Given the description of an element on the screen output the (x, y) to click on. 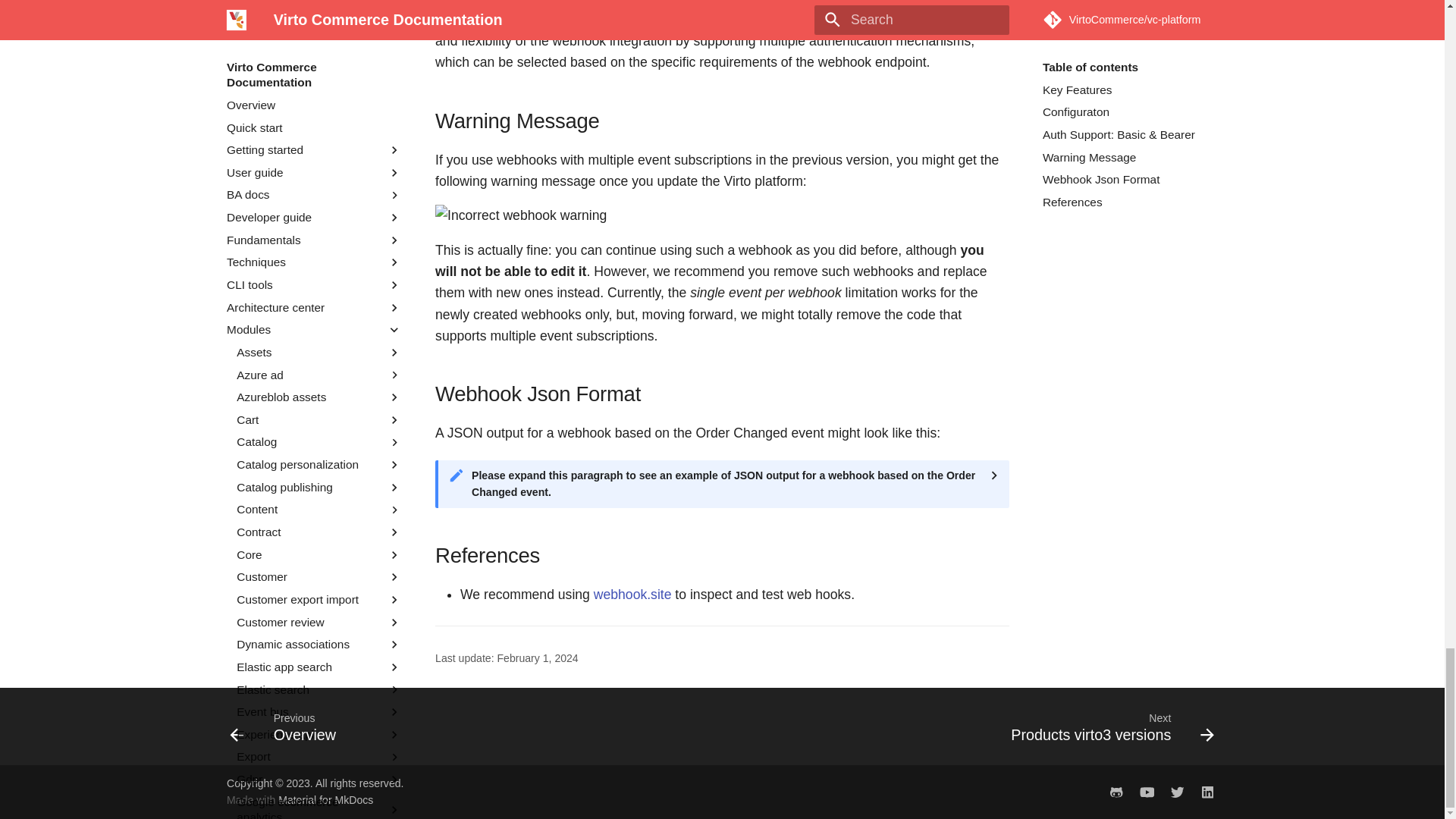
twitter.com (1177, 791)
www.linkedin.com (1207, 791)
github.com (1116, 791)
www.youtube.com (1147, 791)
